Given the description of an element on the screen output the (x, y) to click on. 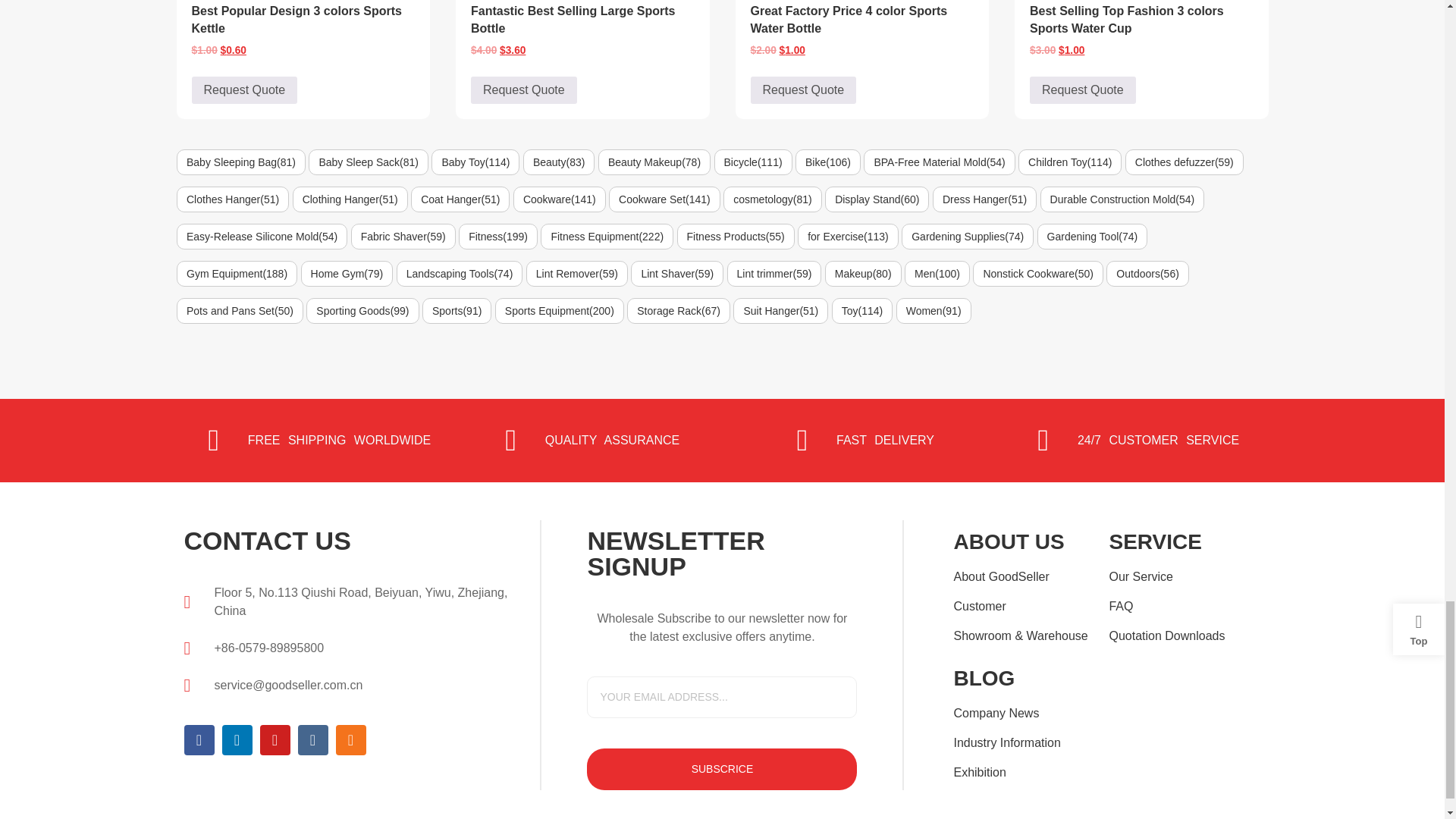
Minimum qty is 50 (243, 90)
Minimum qty is 50 (804, 90)
Minimum qty is 50 (1082, 90)
Minimum qty is 50 (523, 90)
